Given the description of an element on the screen output the (x, y) to click on. 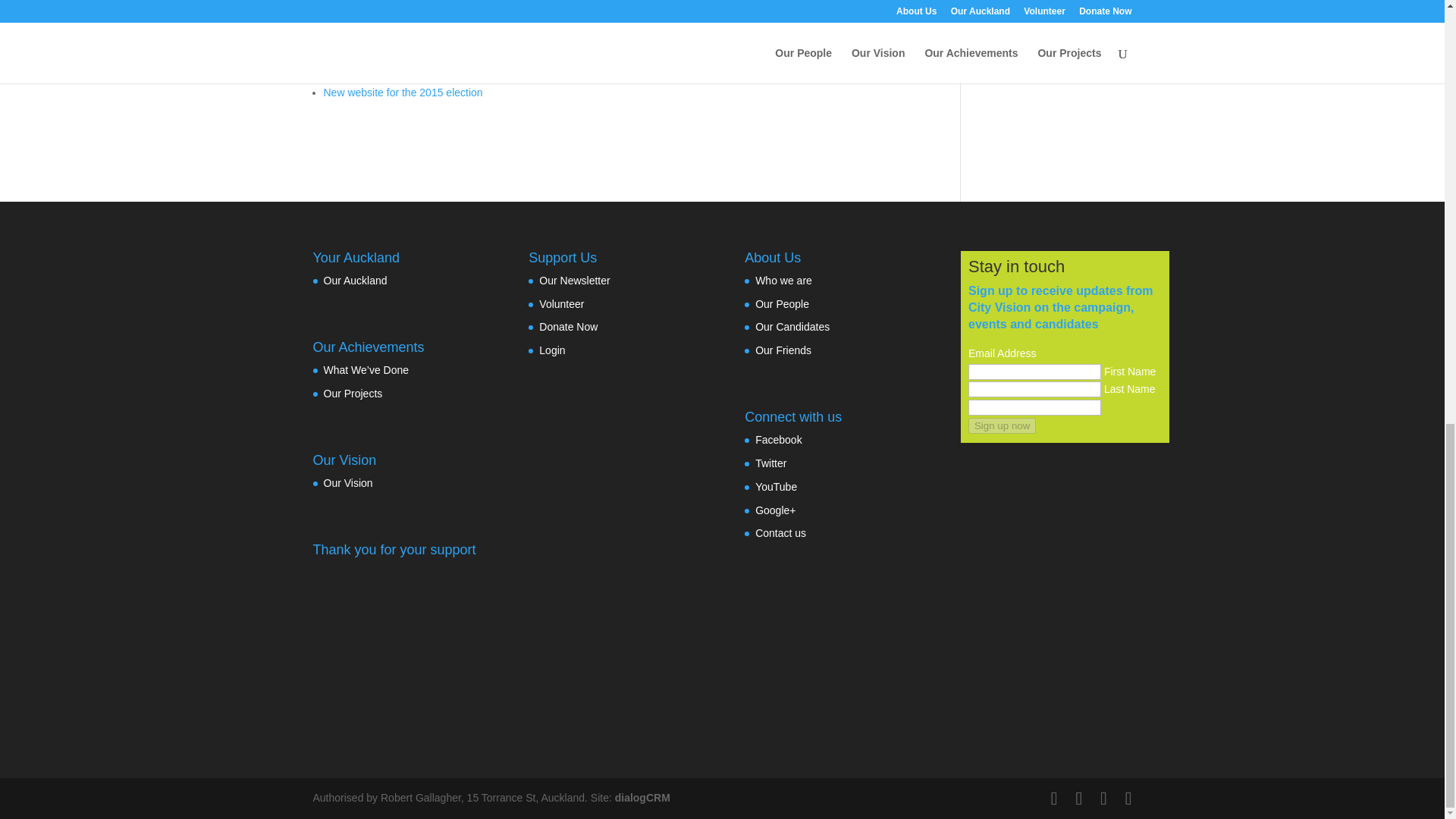
Our Auckland (355, 280)
Our People (782, 303)
Donate Now (567, 326)
Login (551, 349)
Facebook (778, 439)
Thank you for your support (394, 645)
Contact us (780, 532)
Our Candidates (792, 326)
Twitter (770, 463)
dialogCRM (641, 797)
Our Vision (347, 482)
Our Projects (352, 393)
Our Newsletter (574, 280)
Sign up now (1001, 425)
Who we are (783, 280)
